Given the description of an element on the screen output the (x, y) to click on. 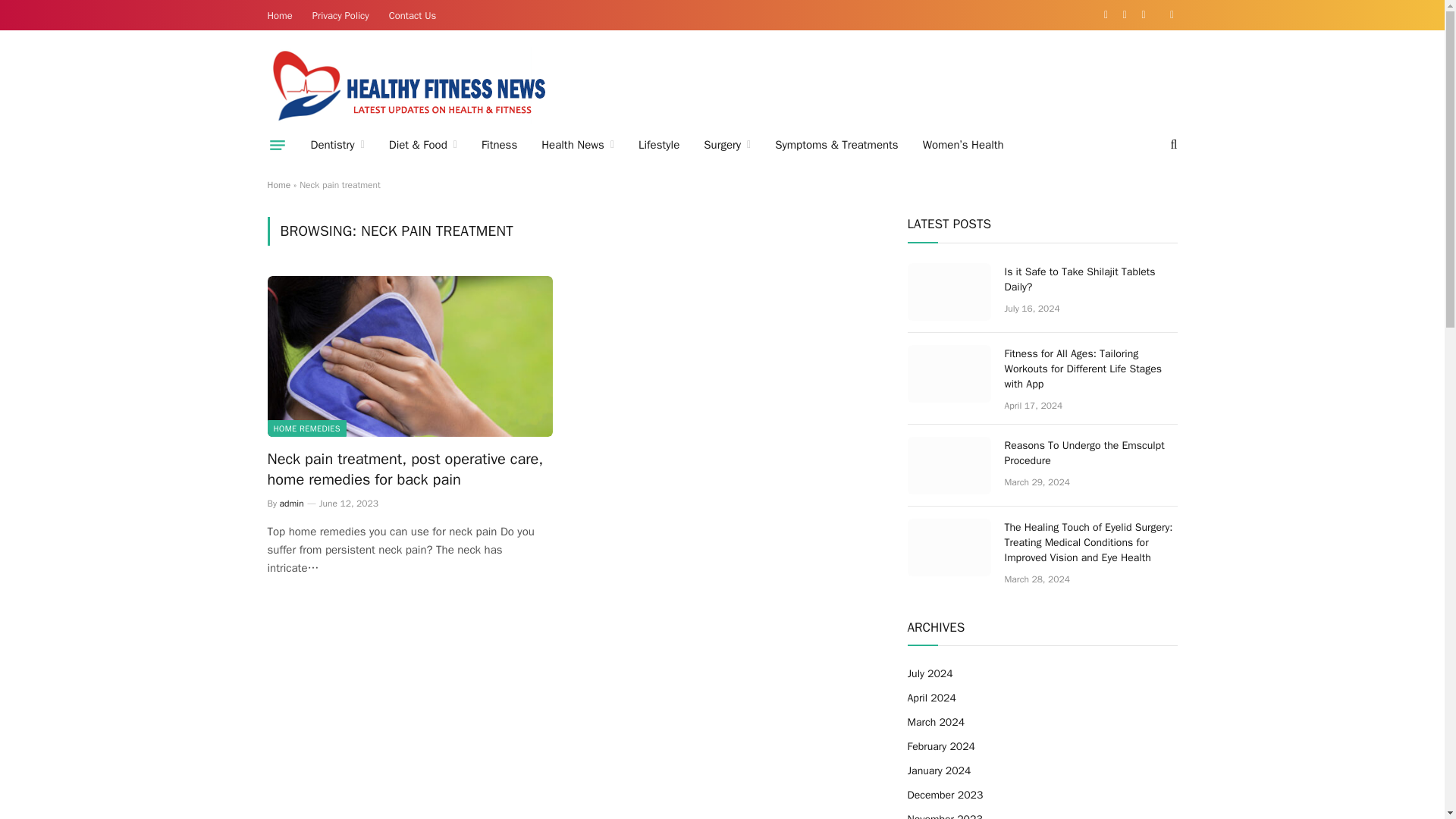
Switch to Dark Design - easier on eyes. (1170, 14)
Fitness (498, 144)
Home (279, 15)
Contact Us (412, 15)
Dentistry (337, 144)
Privacy Policy (340, 15)
Healthy Fitness News (408, 85)
